Given the description of an element on the screen output the (x, y) to click on. 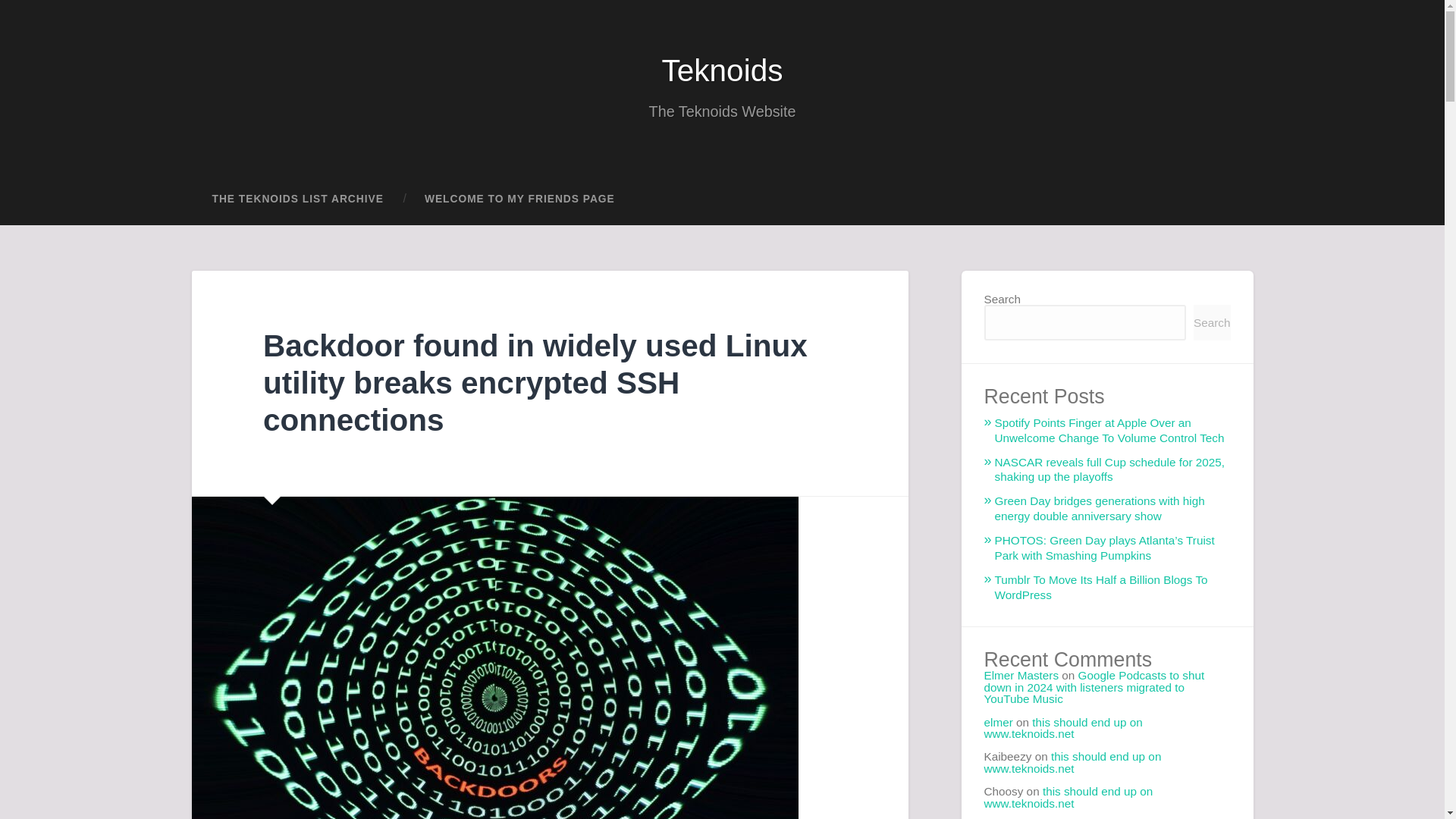
WELCOME TO MY FRIENDS PAGE (519, 199)
this should end up on www.teknoids.net (1072, 761)
Tumblr To Move Its Half a Billion Blogs To WordPress (1101, 587)
this should end up on www.teknoids.net (1063, 727)
elmer (998, 721)
THE TEKNOIDS LIST ARCHIVE (296, 199)
